Given the description of an element on the screen output the (x, y) to click on. 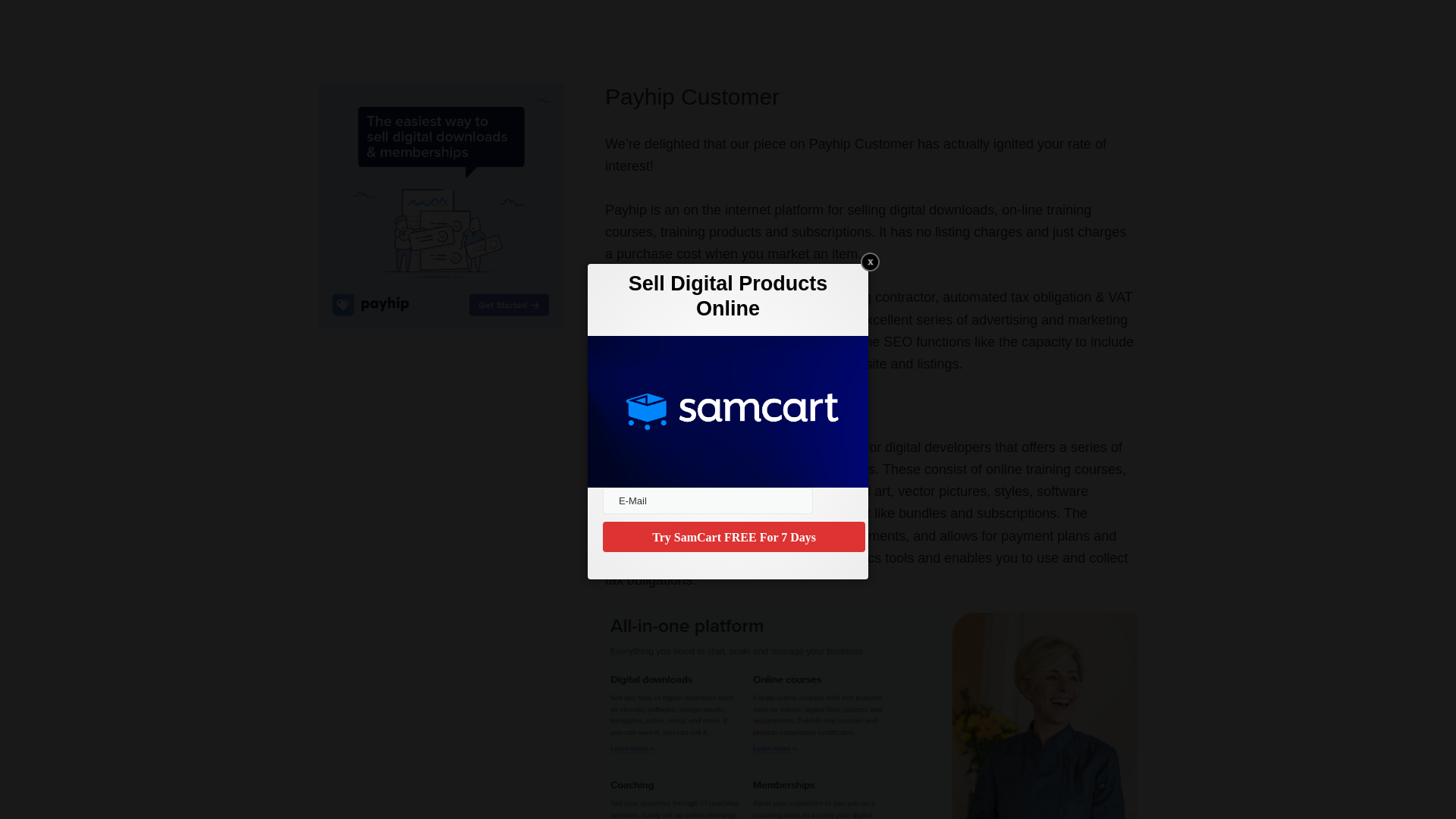
Try SamCart FREE For 7 Days (733, 536)
Try SamCart FREE For 7 Days (733, 536)
